Given the description of an element on the screen output the (x, y) to click on. 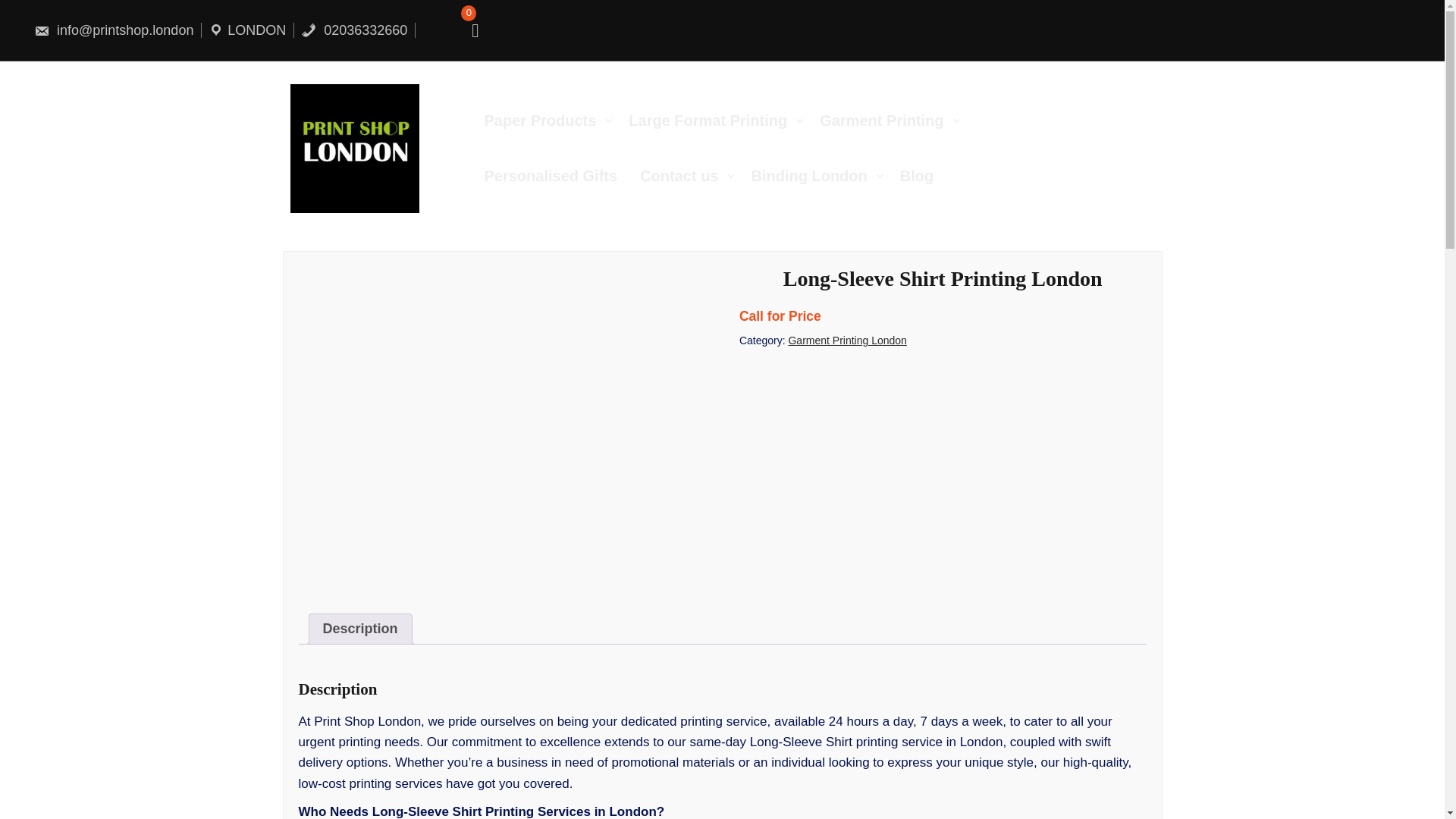
0 (469, 30)
Garment Printing (897, 120)
Contact us (695, 175)
Binding London (825, 175)
02036332660 (354, 29)
Large Format Printing (723, 120)
Personalised Gifts (561, 175)
Paper Products (555, 120)
